Given the description of an element on the screen output the (x, y) to click on. 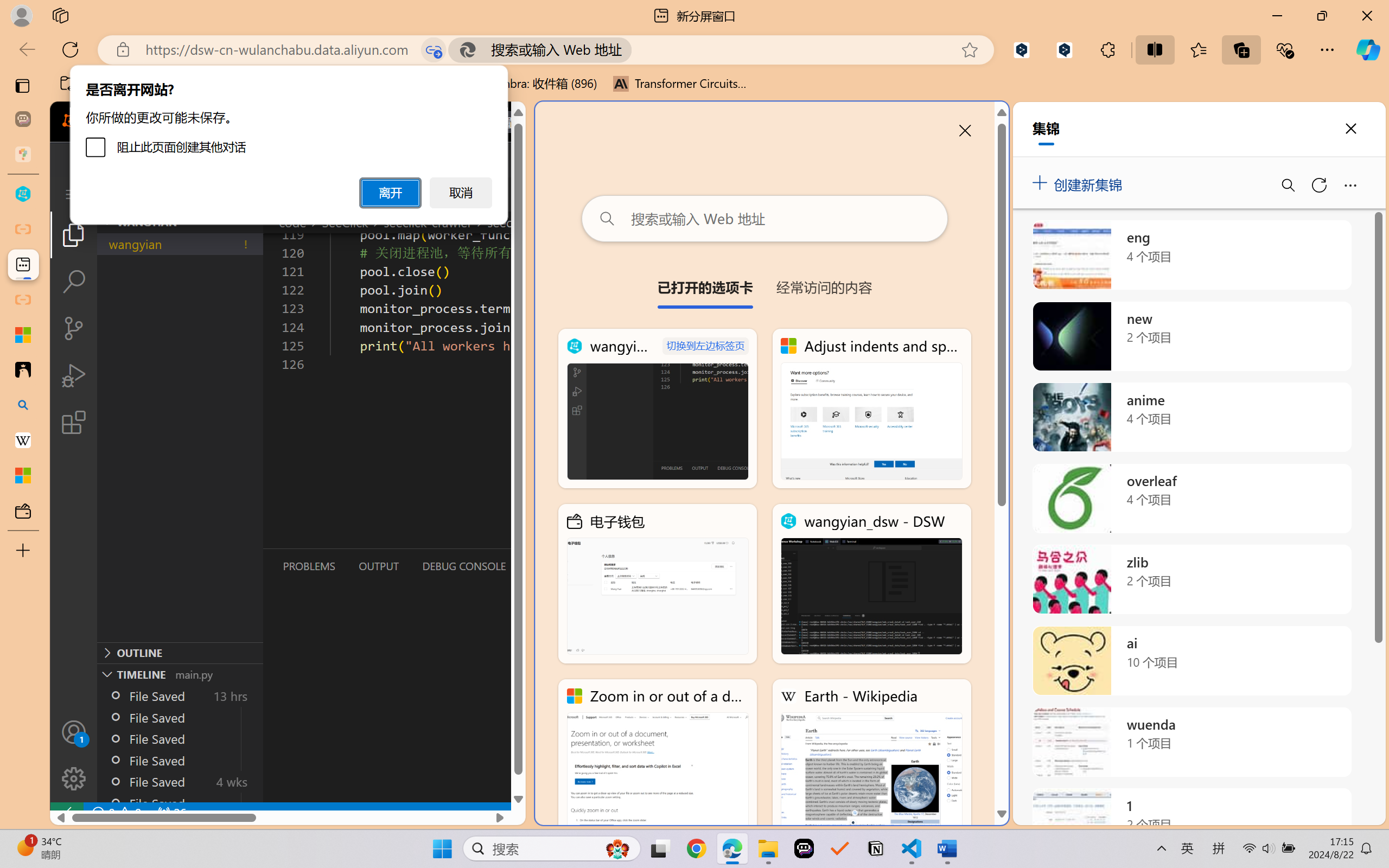
Outline Section (179, 652)
